Given the description of an element on the screen output the (x, y) to click on. 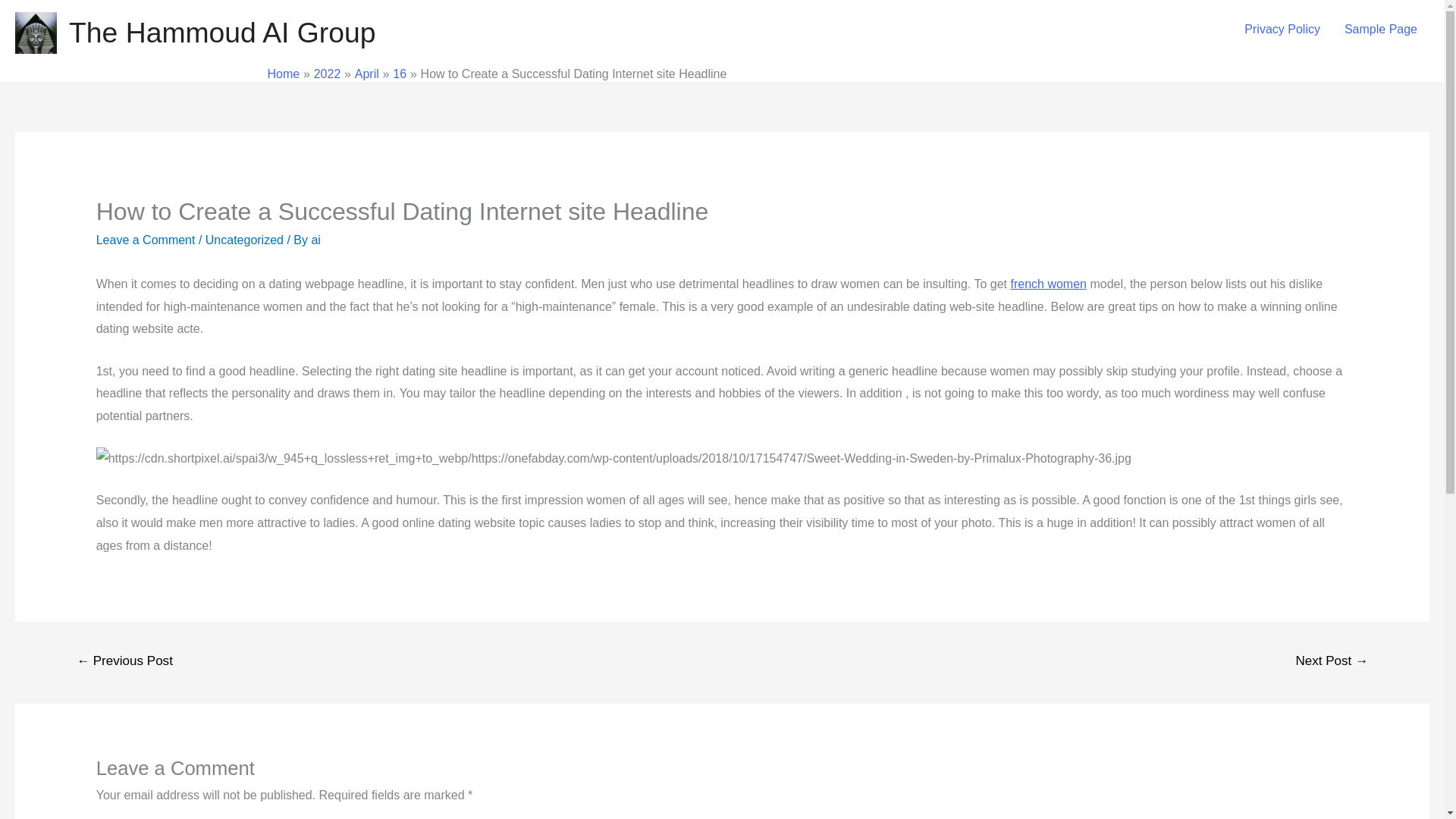
Leave a Comment (145, 239)
The Hammoud AI Group (221, 32)
2022 (327, 73)
Privacy Policy (1281, 29)
Home (282, 73)
April (366, 73)
Sample Page (1380, 29)
french women (1048, 283)
Uncategorized (244, 239)
16 (399, 73)
